Given the description of an element on the screen output the (x, y) to click on. 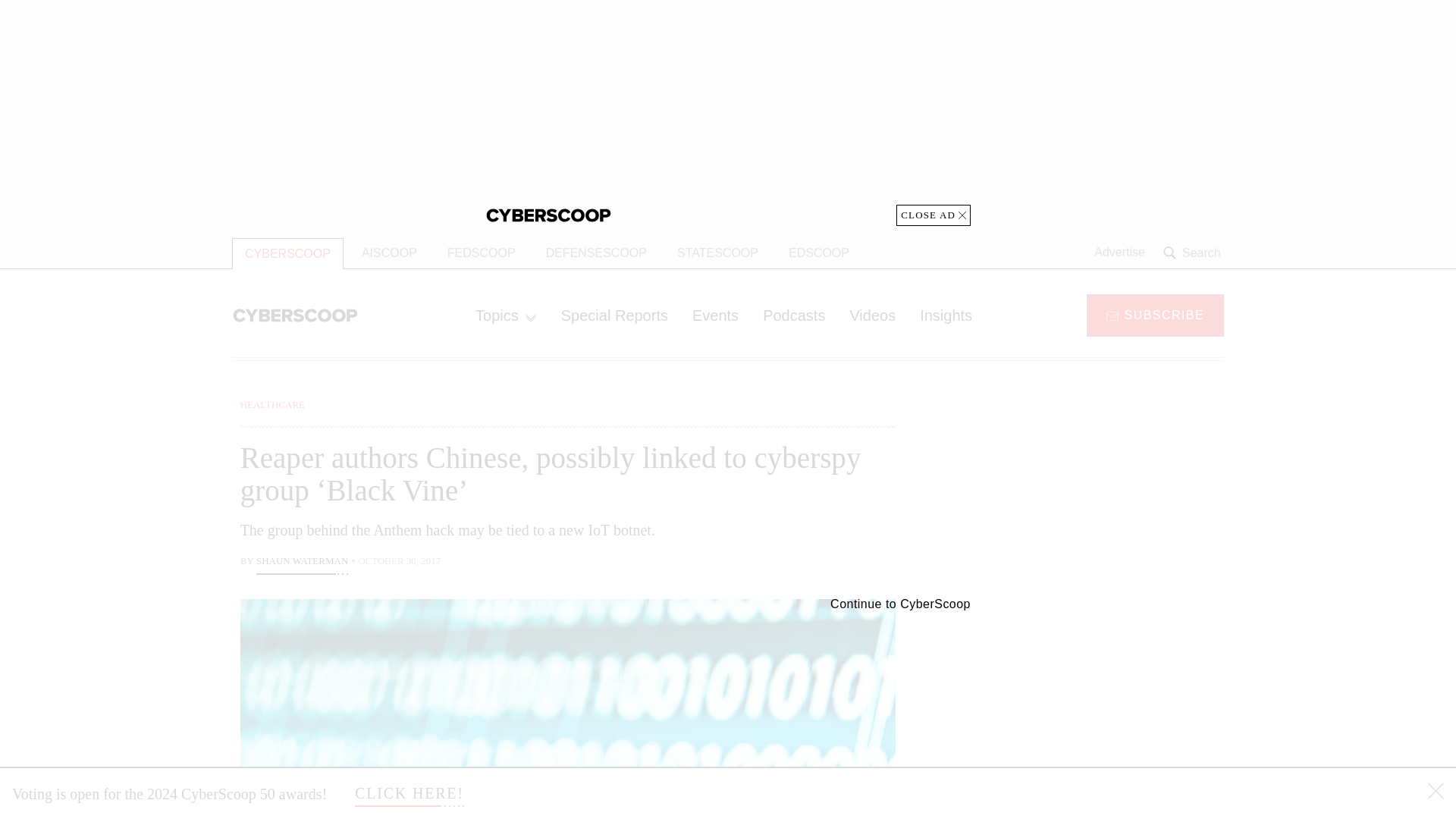
FEDSCOOP (481, 253)
Shaun Waterman (301, 562)
AISCOOP (389, 253)
Advertise (1119, 252)
Events (715, 315)
EDSCOOP (818, 253)
Videos (872, 315)
3rd party ad content (1101, 492)
